Given the description of an element on the screen output the (x, y) to click on. 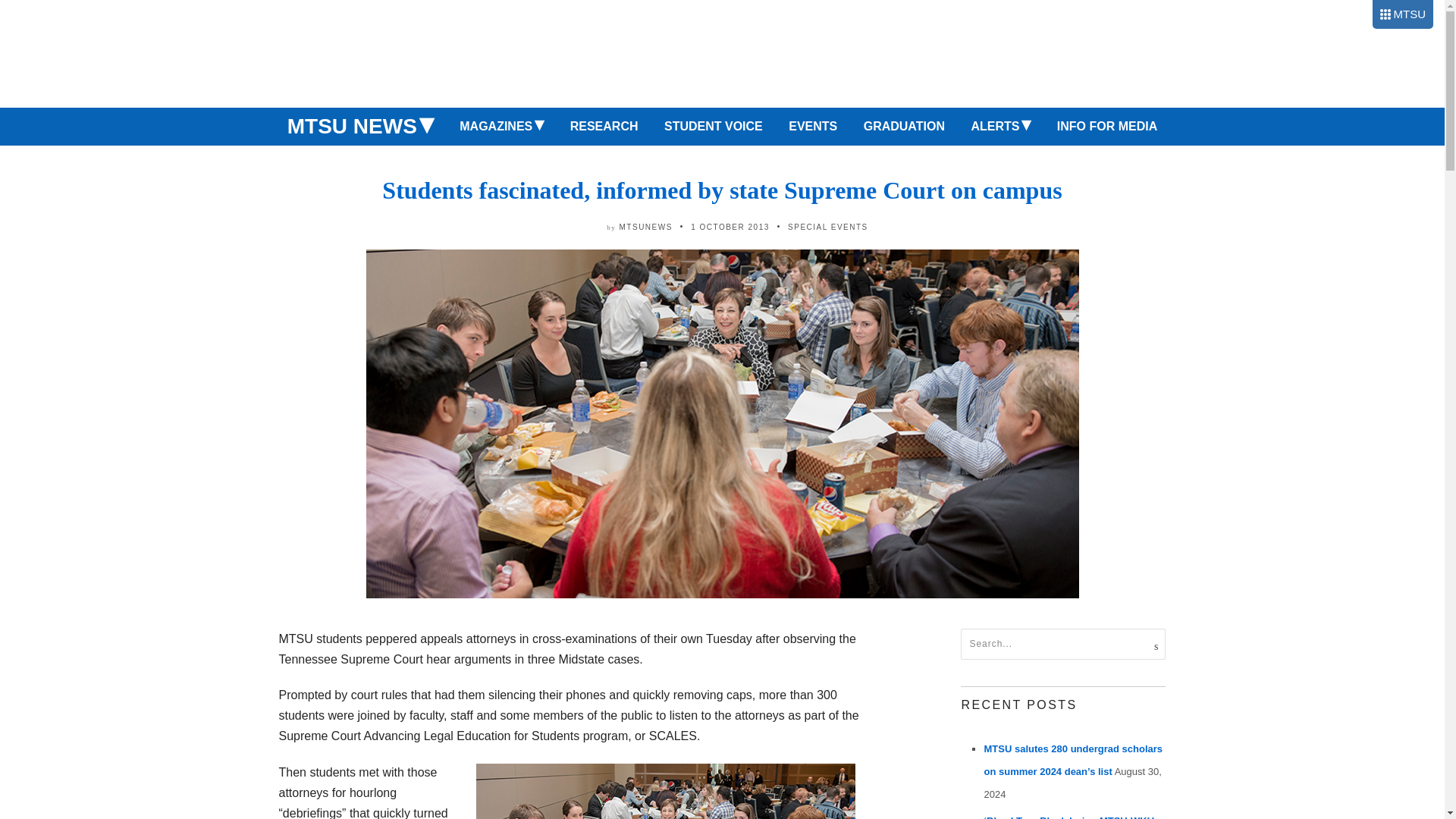
Posts by mtsunews (646, 226)
October 1, 2013 4:28 (730, 226)
SCALES Project visit Holder web (666, 791)
